Given the description of an element on the screen output the (x, y) to click on. 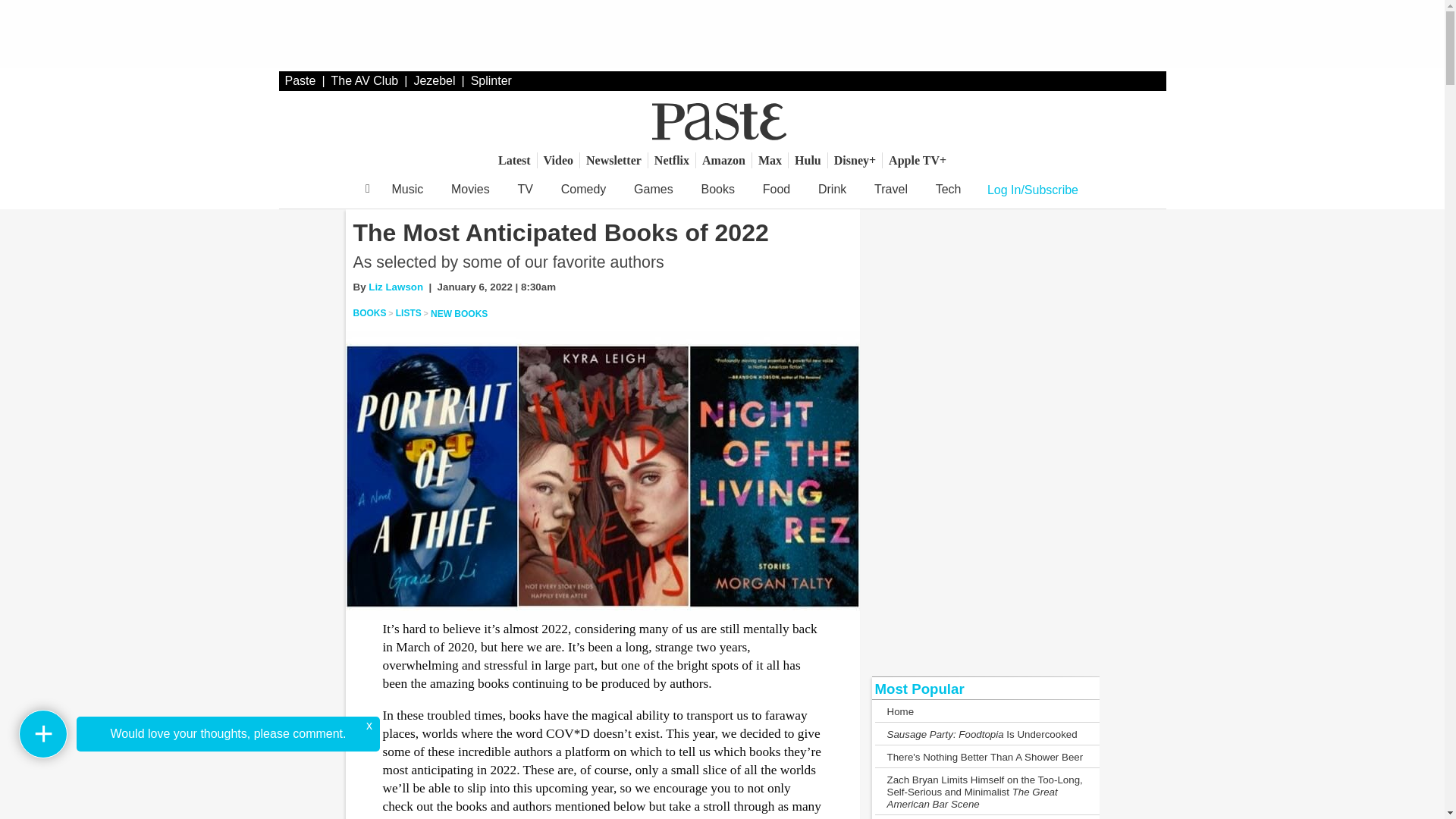
Video (558, 160)
Hulu (808, 160)
Splinter (491, 80)
Amazon (723, 160)
Newsletter (613, 160)
Max (769, 160)
The AV Club (364, 80)
Latest (514, 160)
Jezebel (433, 80)
Paste (300, 80)
Netflix (671, 160)
